Given the description of an element on the screen output the (x, y) to click on. 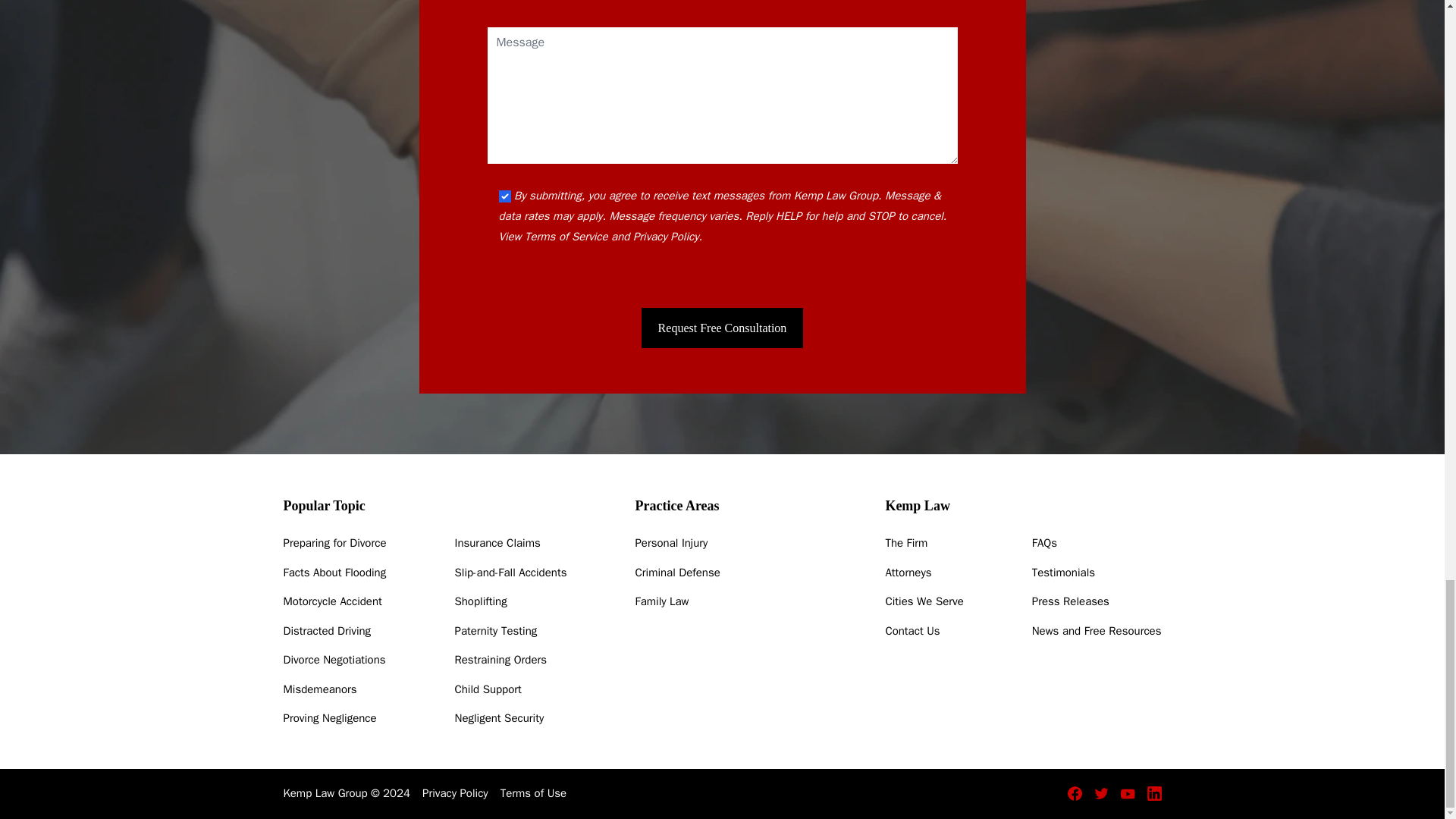
1 (505, 196)
Request Free Consultation (722, 327)
